Given the description of an element on the screen output the (x, y) to click on. 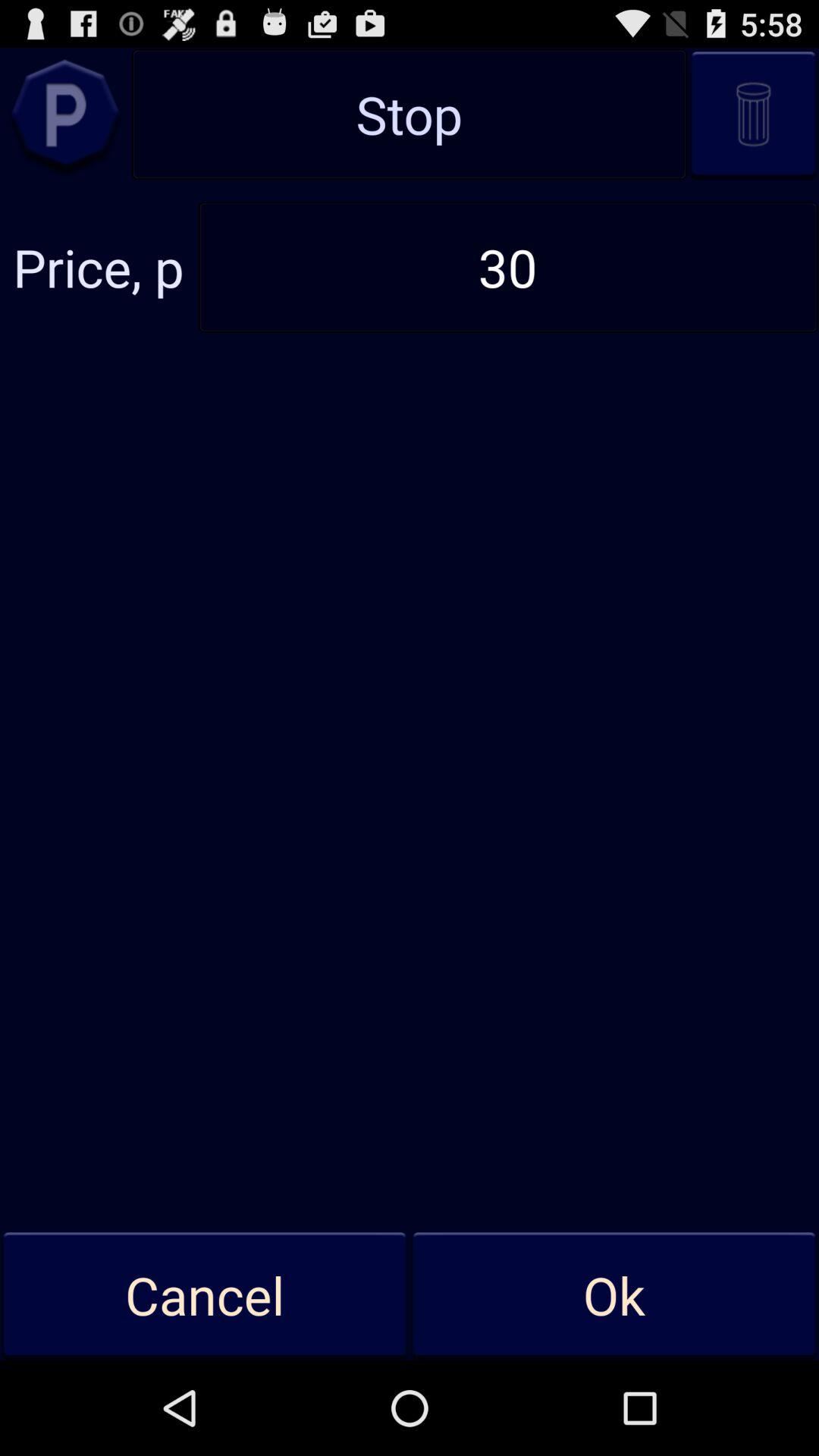
trash can (753, 113)
